Given the description of an element on the screen output the (x, y) to click on. 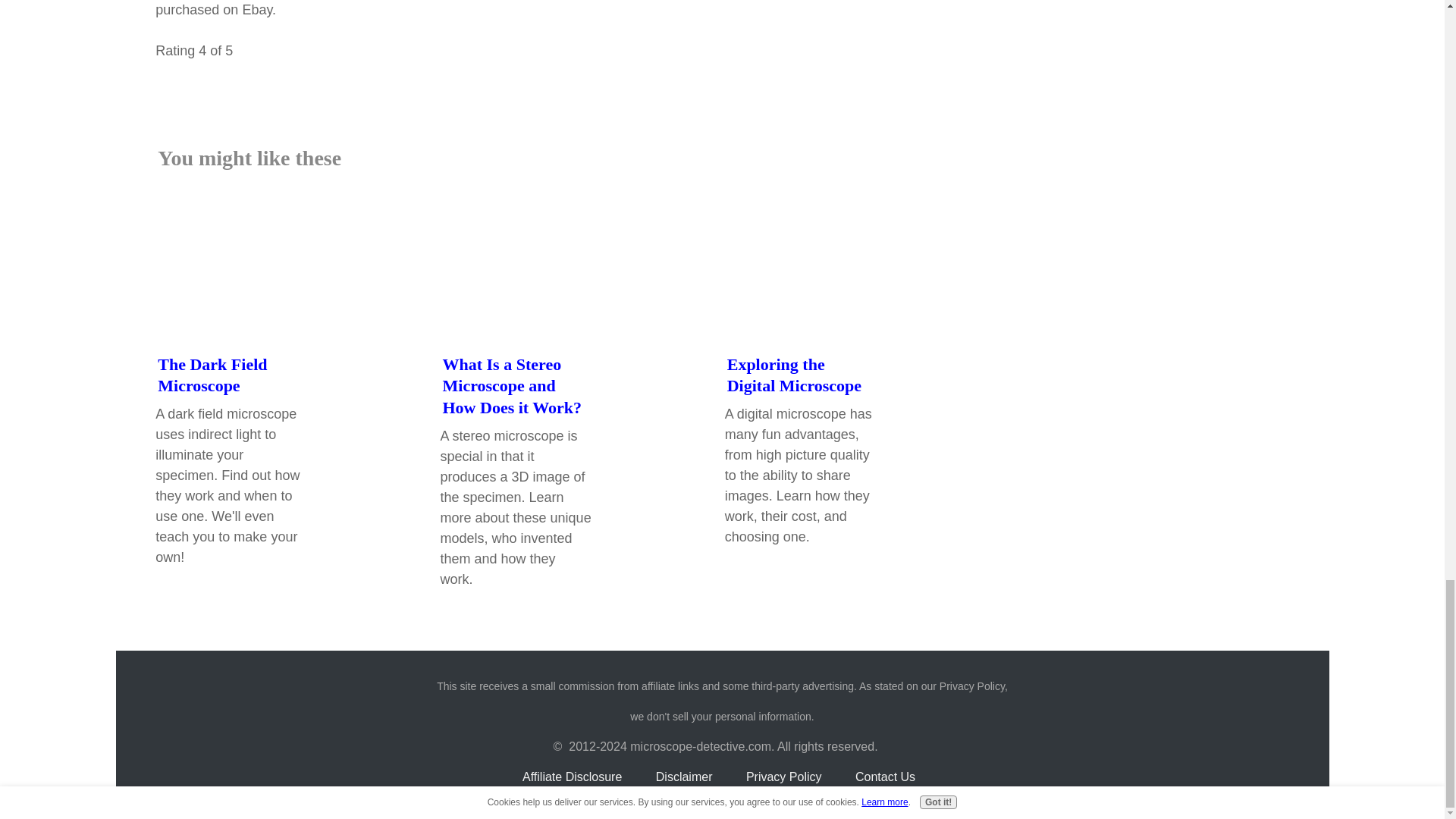
What Is a Stereo Microscope and How Does it Work? (512, 385)
Rating 4 of 5 (695, 76)
The Dark Field Microscope (211, 374)
Exploring the Digital Microscope (793, 374)
